Given the description of an element on the screen output the (x, y) to click on. 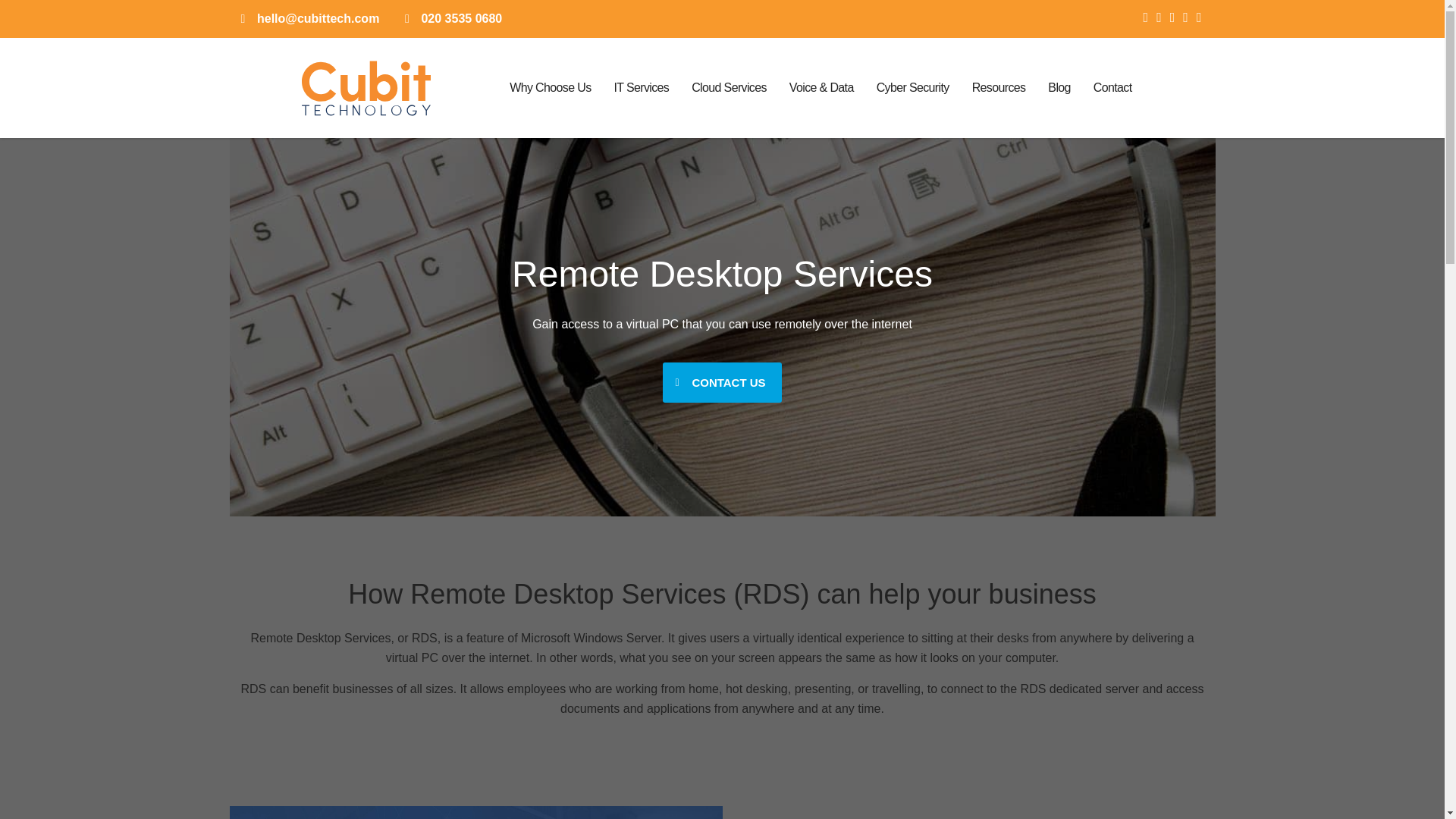
Why Choose Us (549, 87)
Cubit Technology IT Support London (475, 812)
Cyber Security (912, 87)
Contact Us (721, 382)
Cloud Services (728, 87)
IT Services (640, 87)
